Given the description of an element on the screen output the (x, y) to click on. 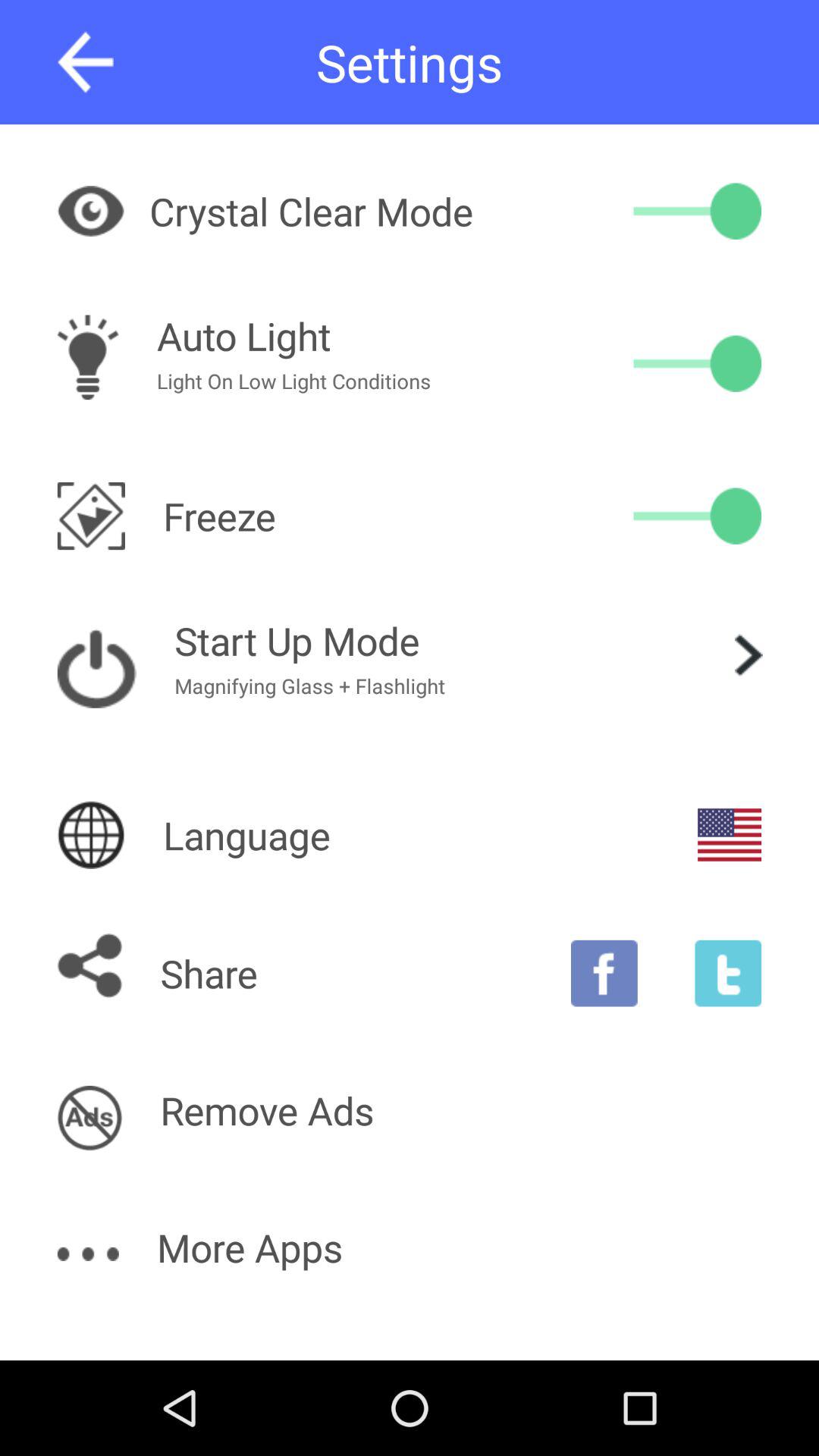
drag to the right (697, 211)
